Given the description of an element on the screen output the (x, y) to click on. 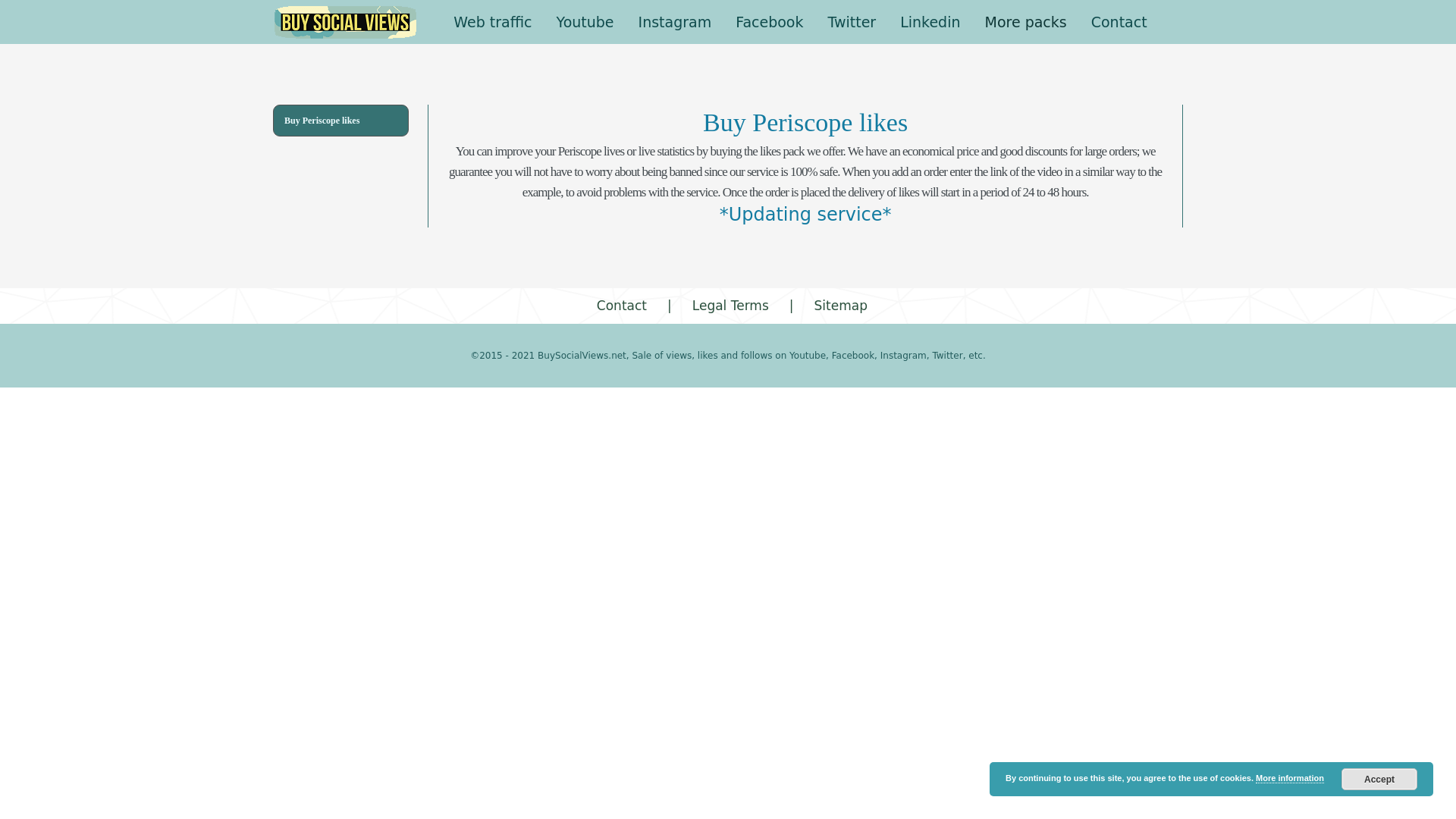
Instagram (674, 21)
Linkedin (930, 21)
Youtube (585, 21)
Buy social views (345, 22)
Twitter (851, 21)
Facebook (769, 21)
More packs (1025, 21)
Web traffic (492, 21)
